Given the description of an element on the screen output the (x, y) to click on. 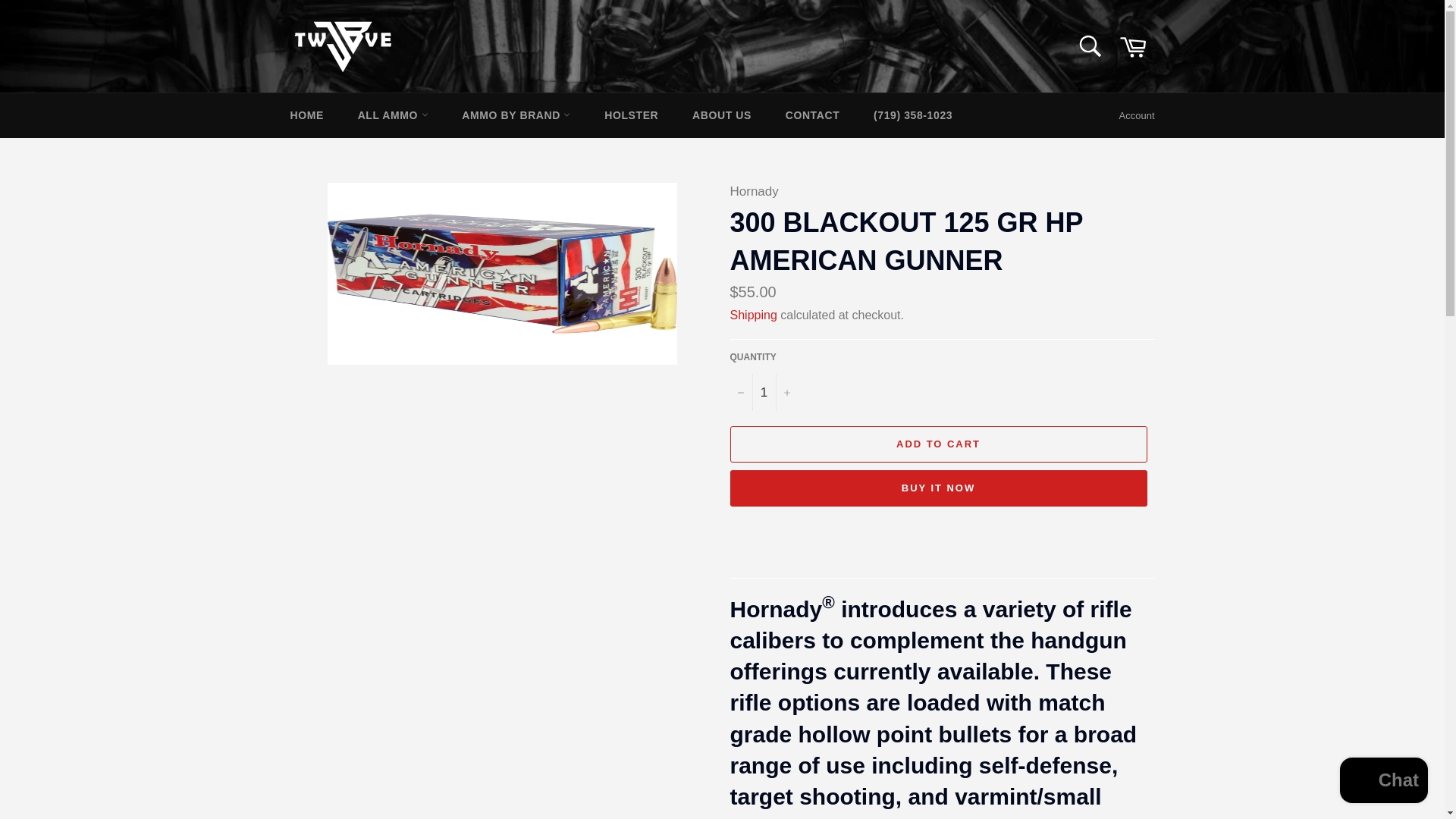
1 (763, 392)
Shopify online store chat (1383, 781)
